Given the description of an element on the screen output the (x, y) to click on. 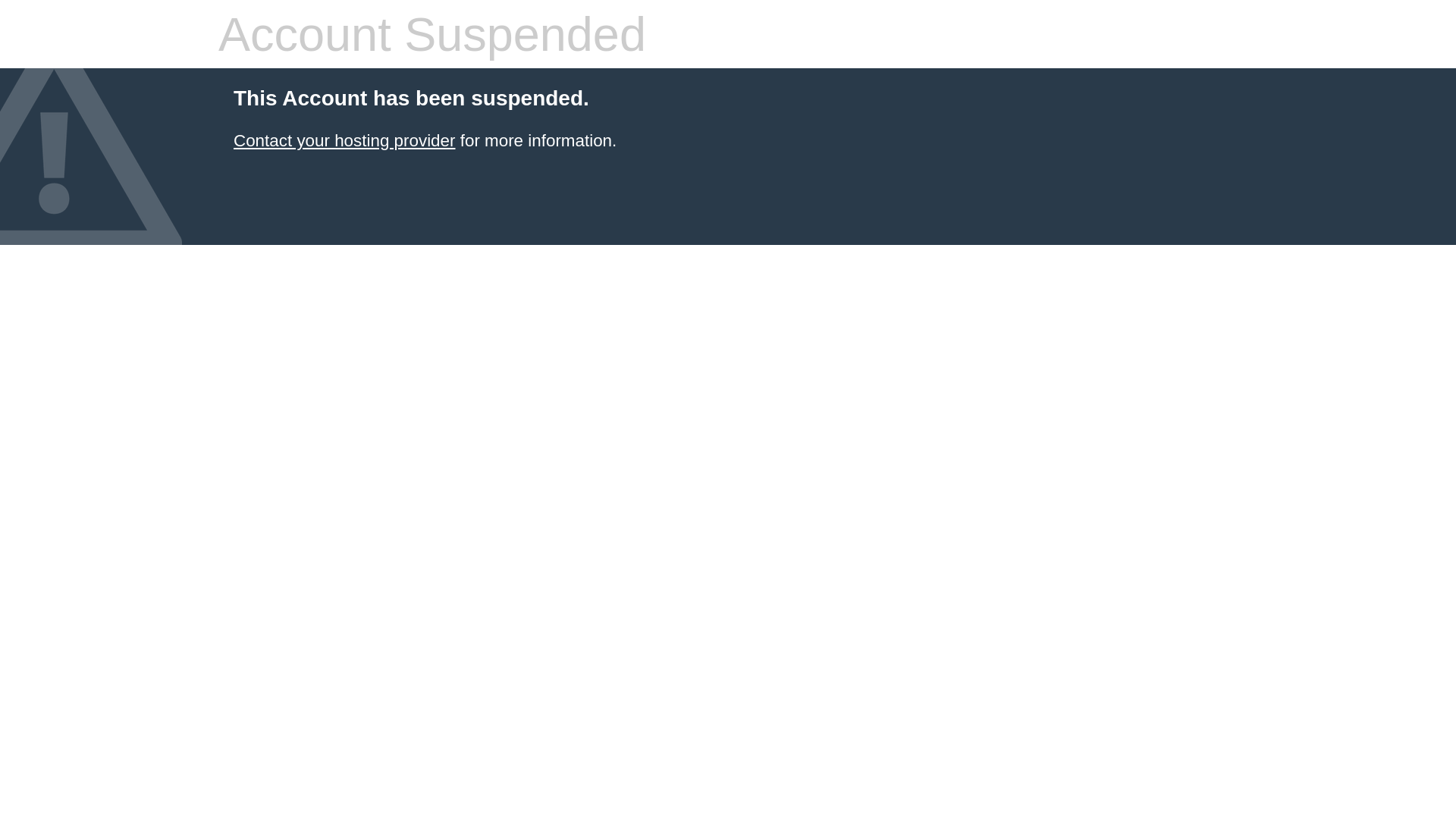
Contact your hosting provider Element type: text (344, 140)
